Given the description of an element on the screen output the (x, y) to click on. 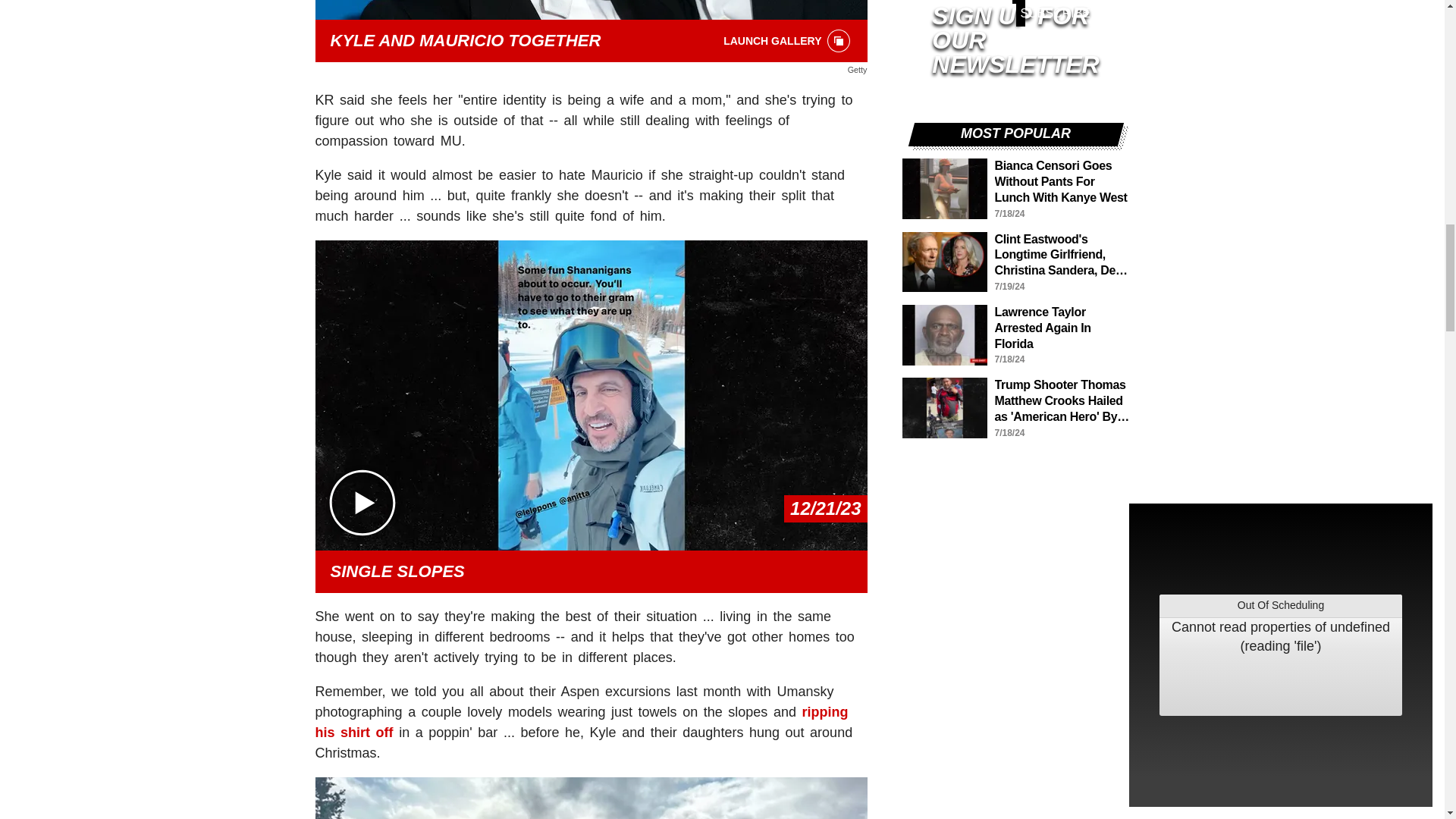
GALLERY (838, 40)
